Given the description of an element on the screen output the (x, y) to click on. 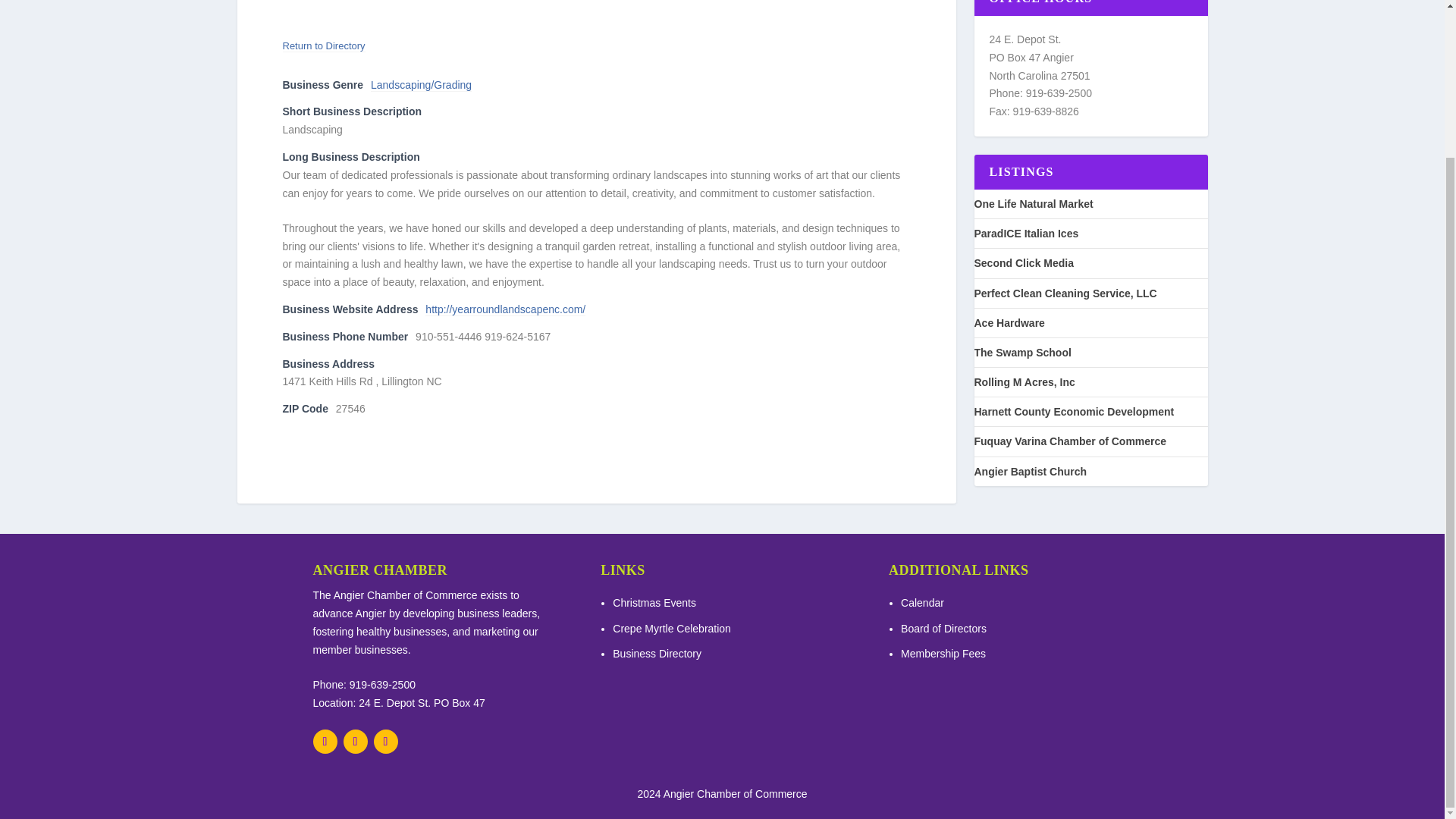
Follow on Facebook (324, 740)
Follow on X (354, 740)
Follow on Instagram (384, 740)
